Given the description of an element on the screen output the (x, y) to click on. 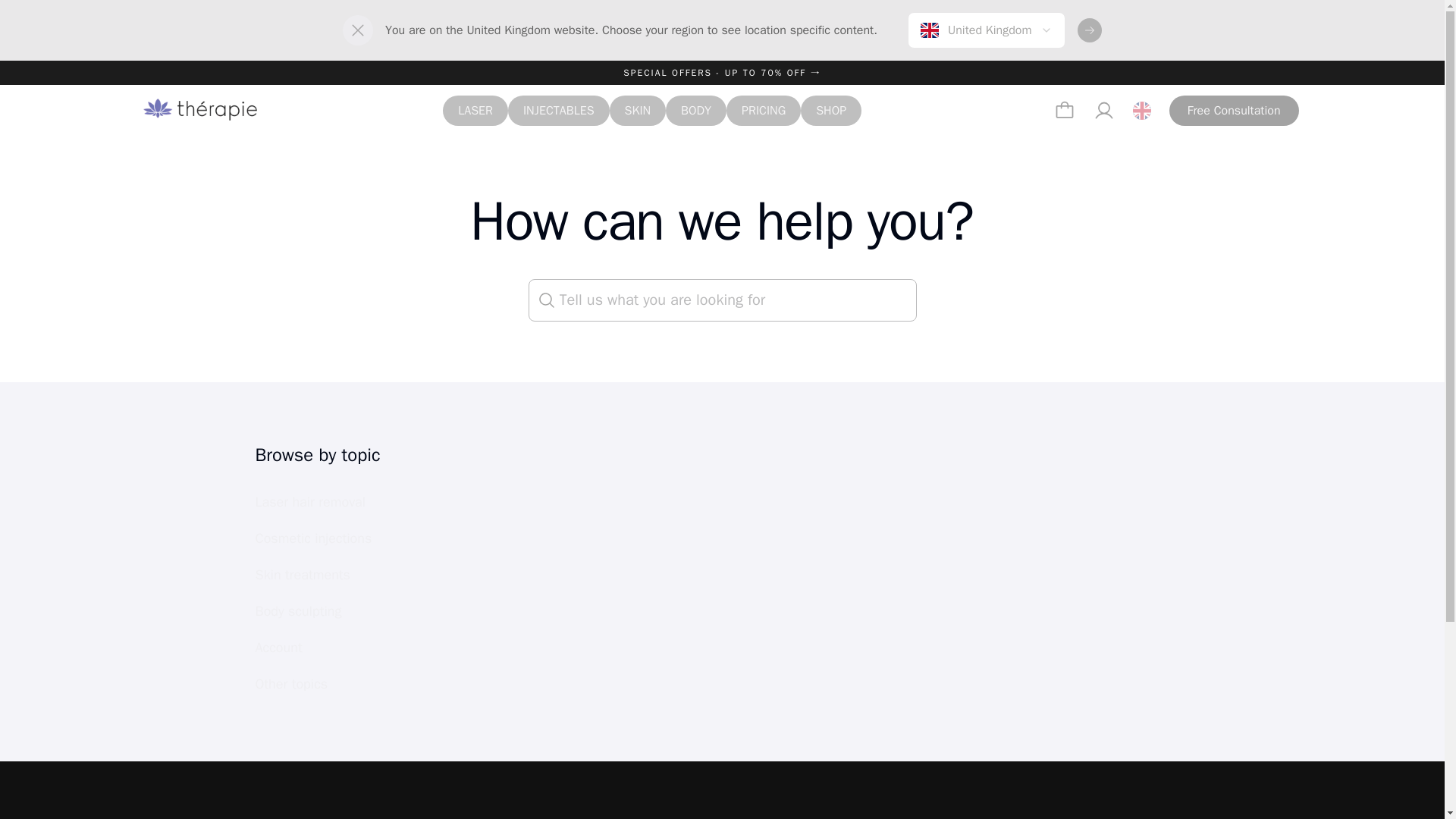
Body sculpting (334, 611)
Free Consultation (1233, 110)
Cosmetic injections (334, 538)
Account (334, 647)
SKIN (638, 110)
Cosmetic injections (334, 539)
BODY (695, 110)
Free Consultation (1233, 110)
INJECTABLES (559, 110)
Body sculpting (334, 611)
